Given the description of an element on the screen output the (x, y) to click on. 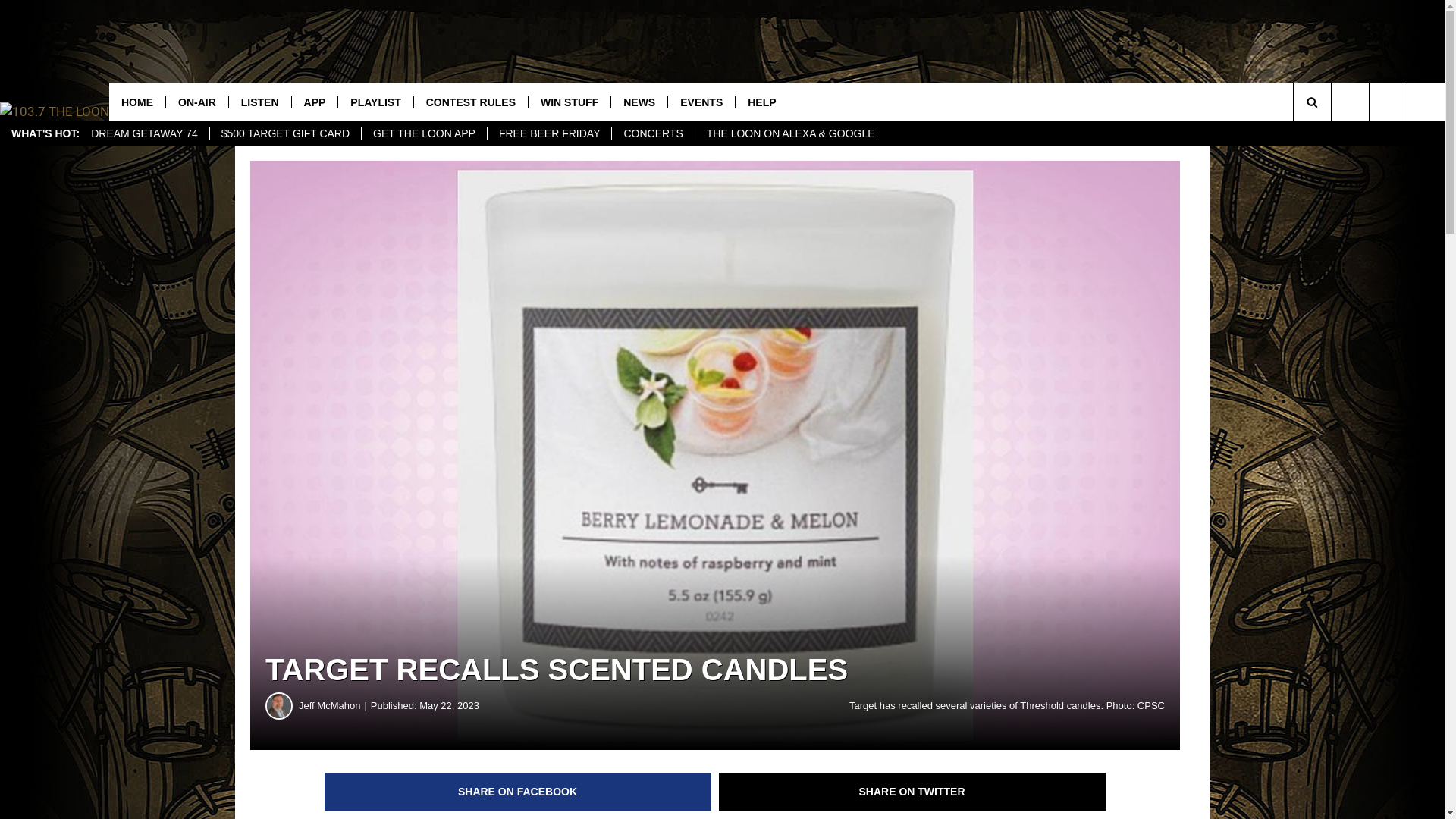
THE LOON ON ALEXA & GOOGLE Element type: text (790, 133)
EVENTS Element type: text (700, 102)
LISTEN Element type: text (259, 102)
CONCERTS Element type: text (652, 133)
SHARE ON FACEBOOK Element type: text (517, 791)
ON-AIR Element type: text (196, 102)
DREAM GETAWAY 74 Element type: text (144, 133)
APP Element type: text (314, 102)
FREE BEER FRIDAY Element type: text (548, 133)
GET THE LOON APP Element type: text (423, 133)
HOME Element type: text (137, 102)
SHARE ON TWITTER Element type: text (911, 791)
PLAYLIST Element type: text (374, 102)
Jeff McMahon Element type: text (334, 705)
HELP Element type: text (760, 102)
Jeff McMahon Element type: text (278, 705)
CONTEST RULES Element type: text (470, 102)
Visit us on Youtube Element type: text (1349, 102)
WIN STUFF Element type: text (568, 102)
Visit us on Twitter Element type: text (1425, 102)
Visit us on Facebook Element type: text (1387, 102)
NEWS Element type: text (638, 102)
$500 TARGET GIFT CARD Element type: text (284, 133)
